Given the description of an element on the screen output the (x, y) to click on. 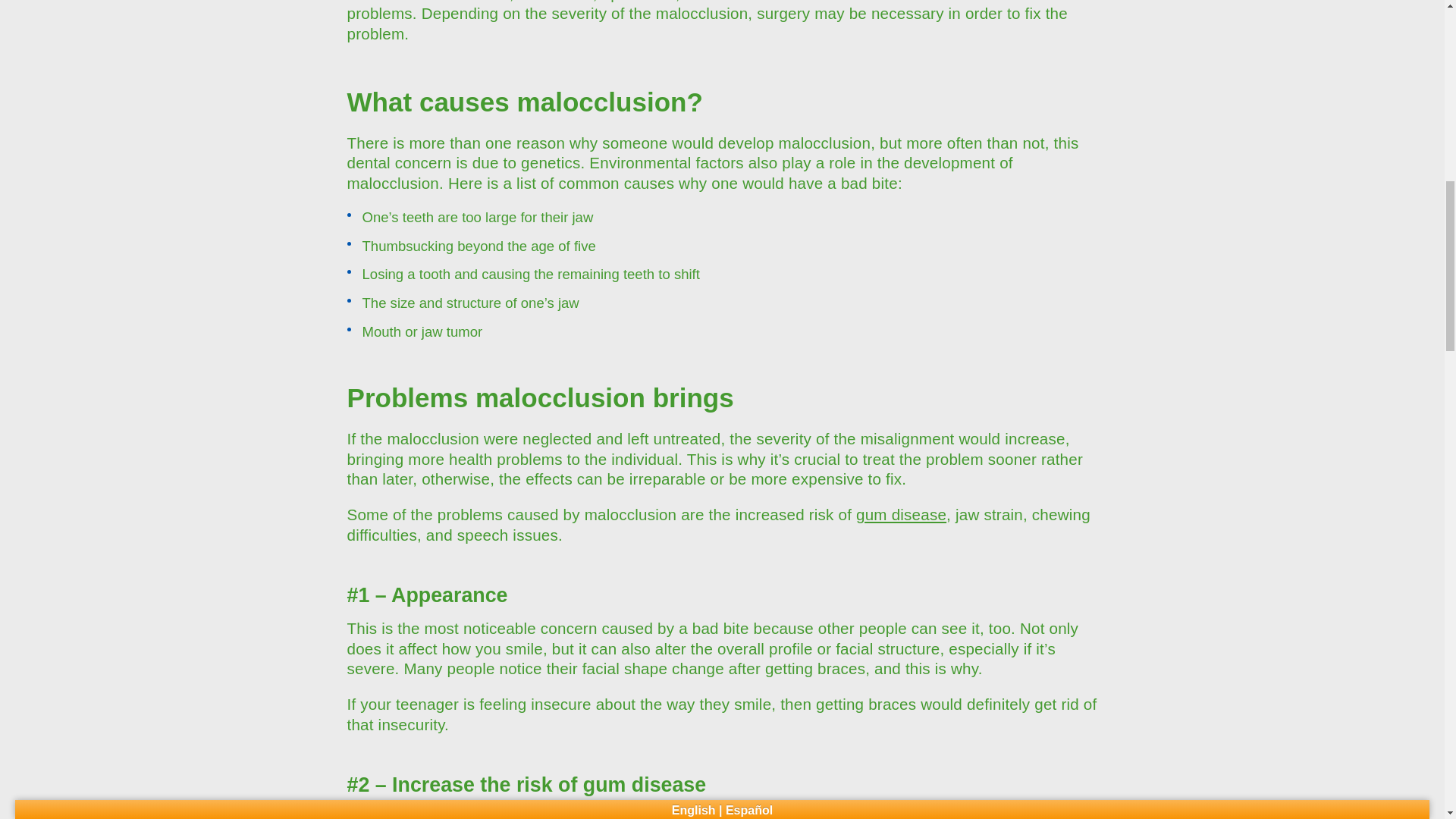
gum disease (901, 514)
